Given the description of an element on the screen output the (x, y) to click on. 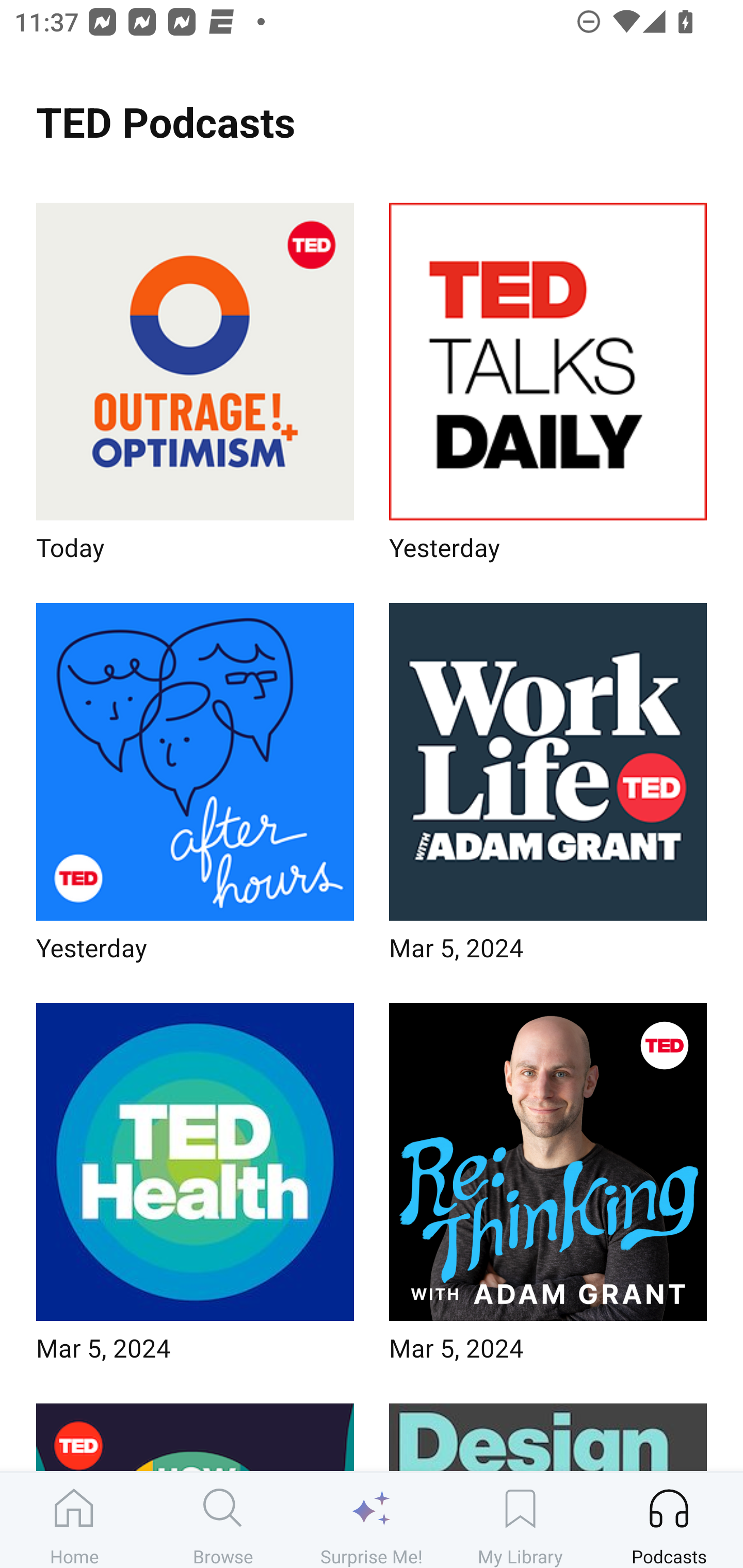
Today (194, 387)
Yesterday (547, 387)
Yesterday (194, 788)
Mar 5, 2024 (547, 788)
Mar 5, 2024 (194, 1189)
Mar 5, 2024 (547, 1189)
Home (74, 1520)
Browse (222, 1520)
Surprise Me! (371, 1520)
My Library (519, 1520)
Podcasts (668, 1520)
